Given the description of an element on the screen output the (x, y) to click on. 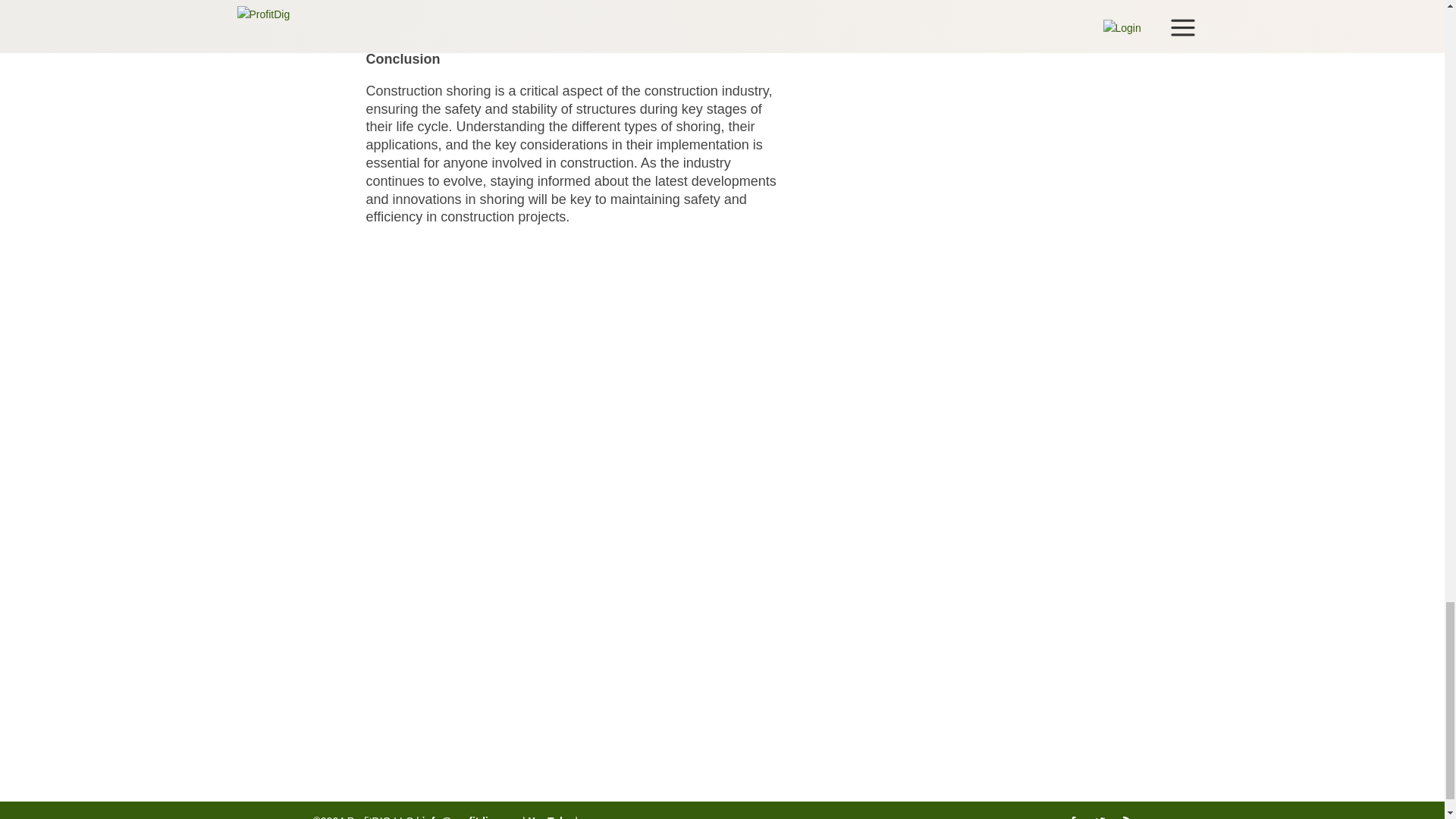
Culverts in Construction: An Essential Guide (499, 357)
